Given the description of an element on the screen output the (x, y) to click on. 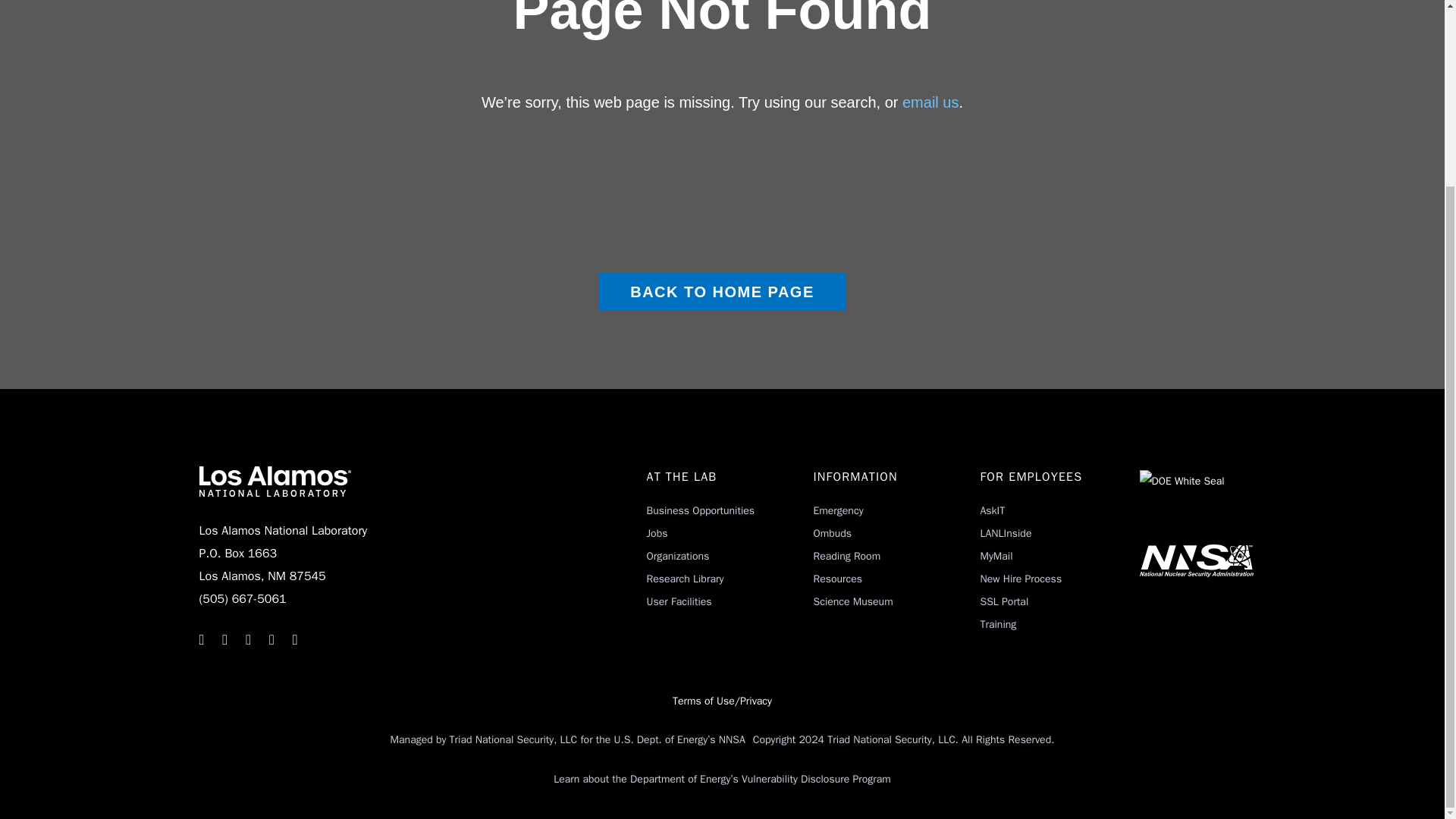
Science Museum (852, 601)
Business Opportunities (700, 510)
AskIT (991, 510)
email us (930, 102)
BACK TO HOME PAGE (721, 291)
Research Library (684, 578)
Emergency (837, 510)
Resources (836, 578)
Jobs (656, 533)
Reading Room (846, 555)
Ombuds (831, 533)
User Facilities (678, 601)
Organizations (677, 555)
